Given the description of an element on the screen output the (x, y) to click on. 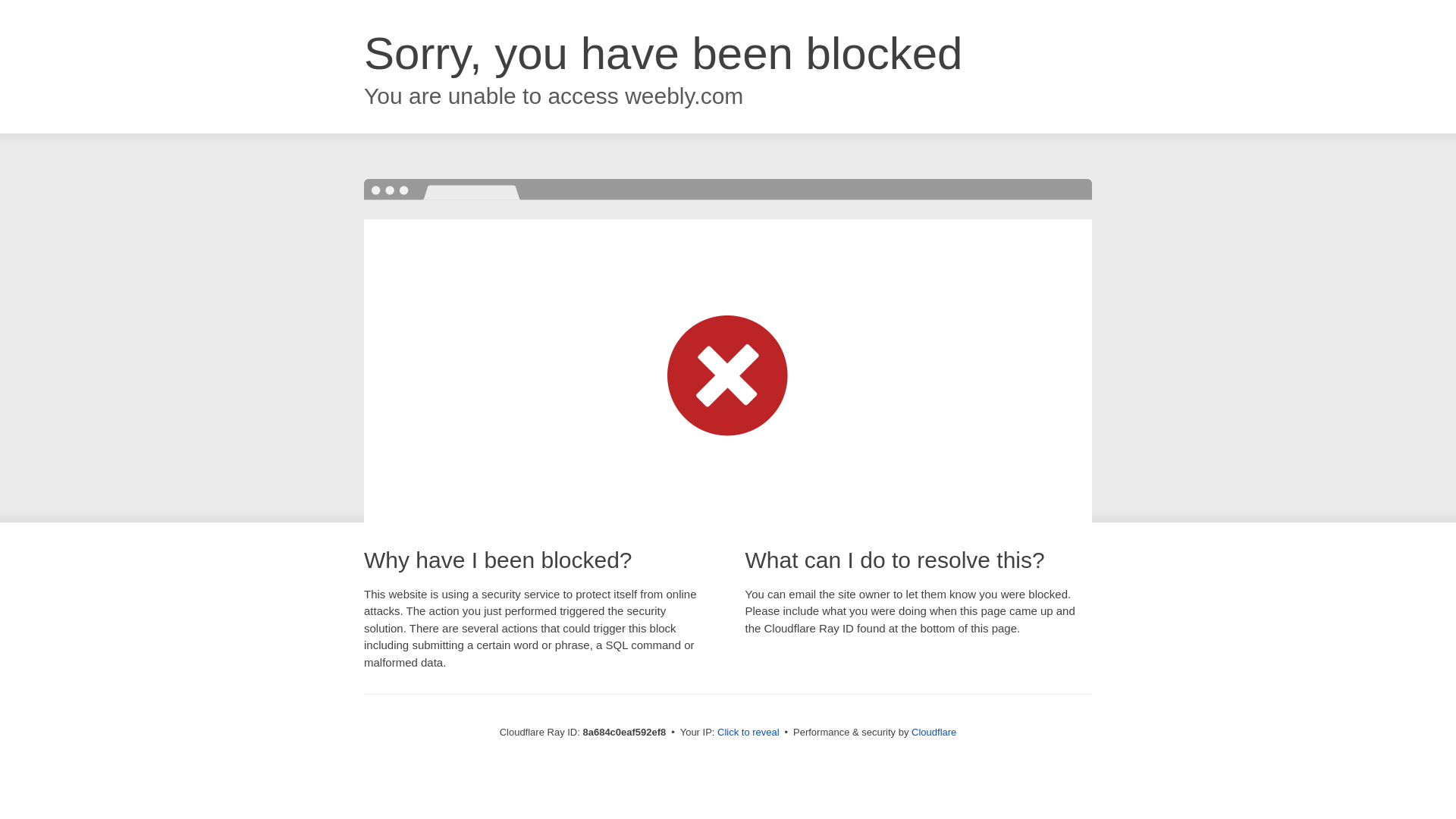
Cloudflare (933, 731)
Click to reveal (747, 732)
